Given the description of an element on the screen output the (x, y) to click on. 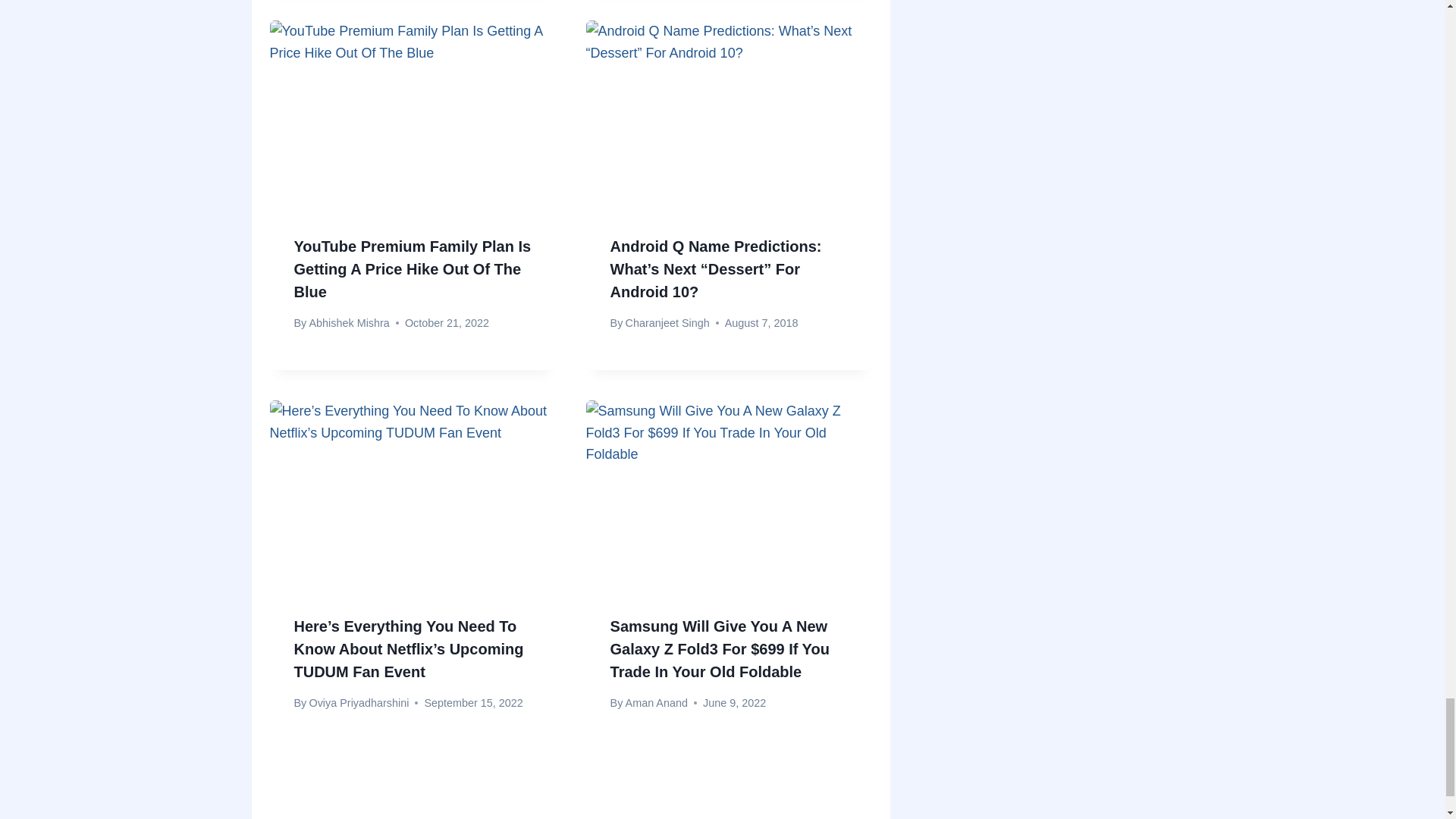
Abhishek Mishra (348, 322)
